Given the description of an element on the screen output the (x, y) to click on. 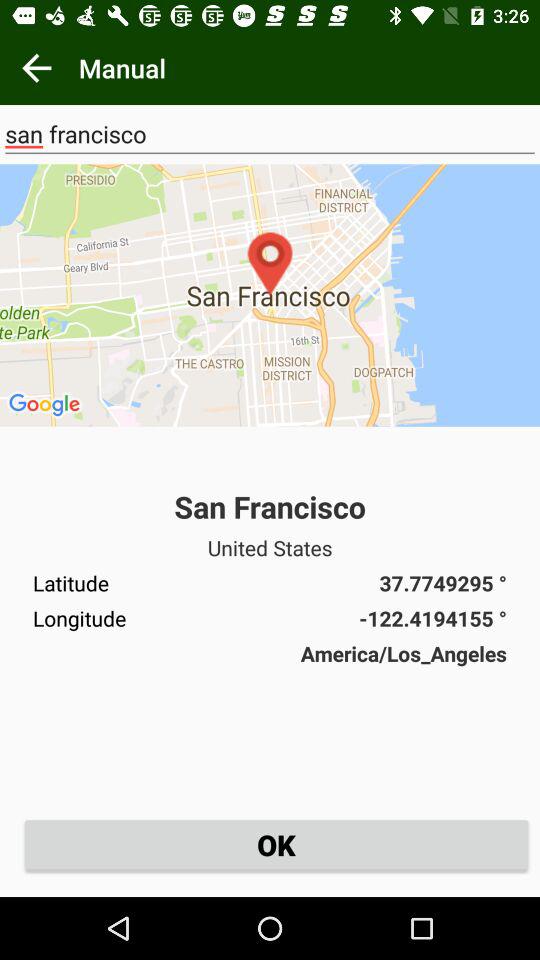
go to previous (36, 68)
